Given the description of an element on the screen output the (x, y) to click on. 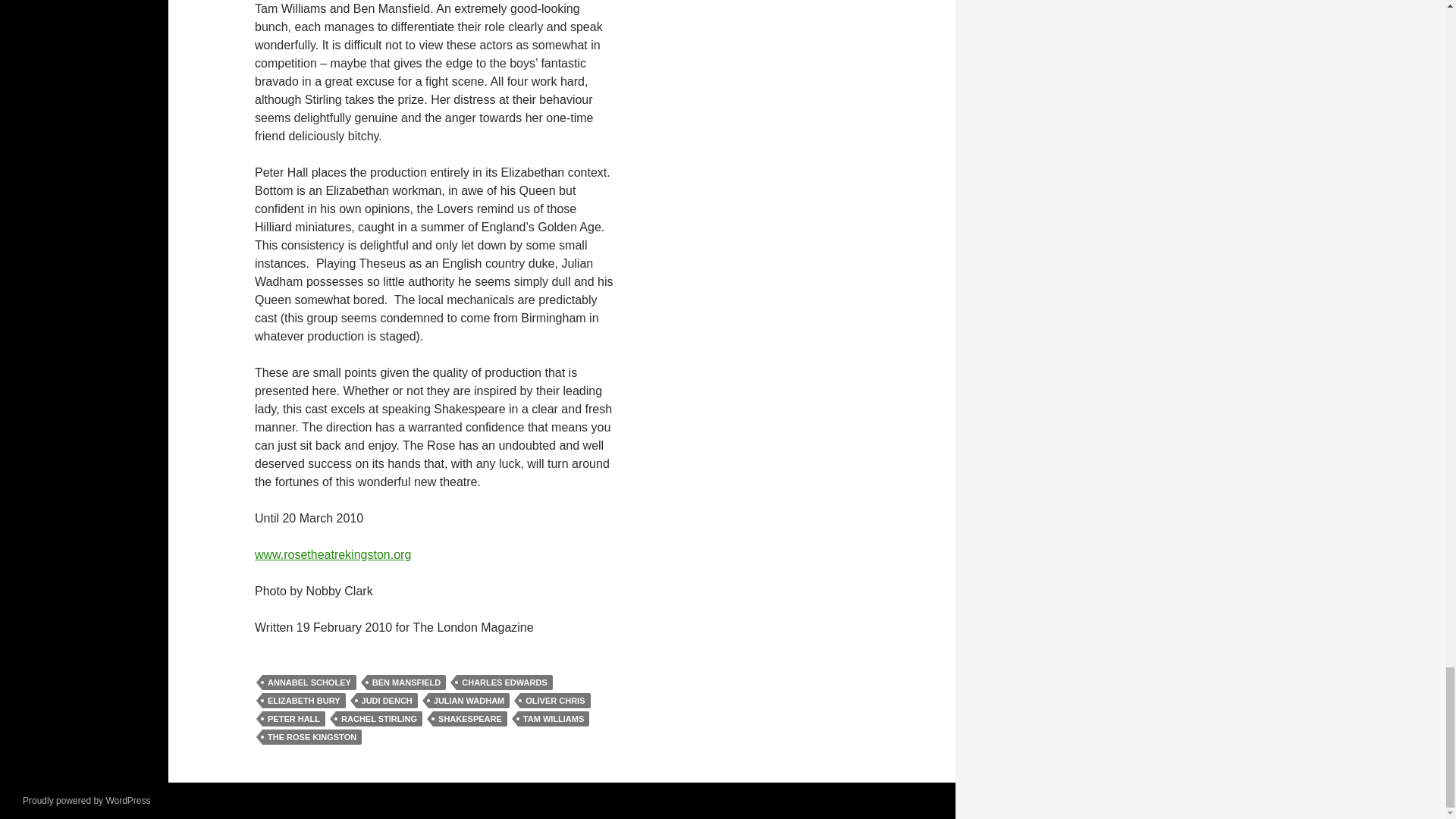
JUDI DENCH (386, 700)
ANNABEL SCHOLEY (309, 682)
ELIZABETH BURY (304, 700)
www.rosetheatrekingston.org (332, 554)
BEN MANSFIELD (405, 682)
CHARLES EDWARDS (504, 682)
